Given the description of an element on the screen output the (x, y) to click on. 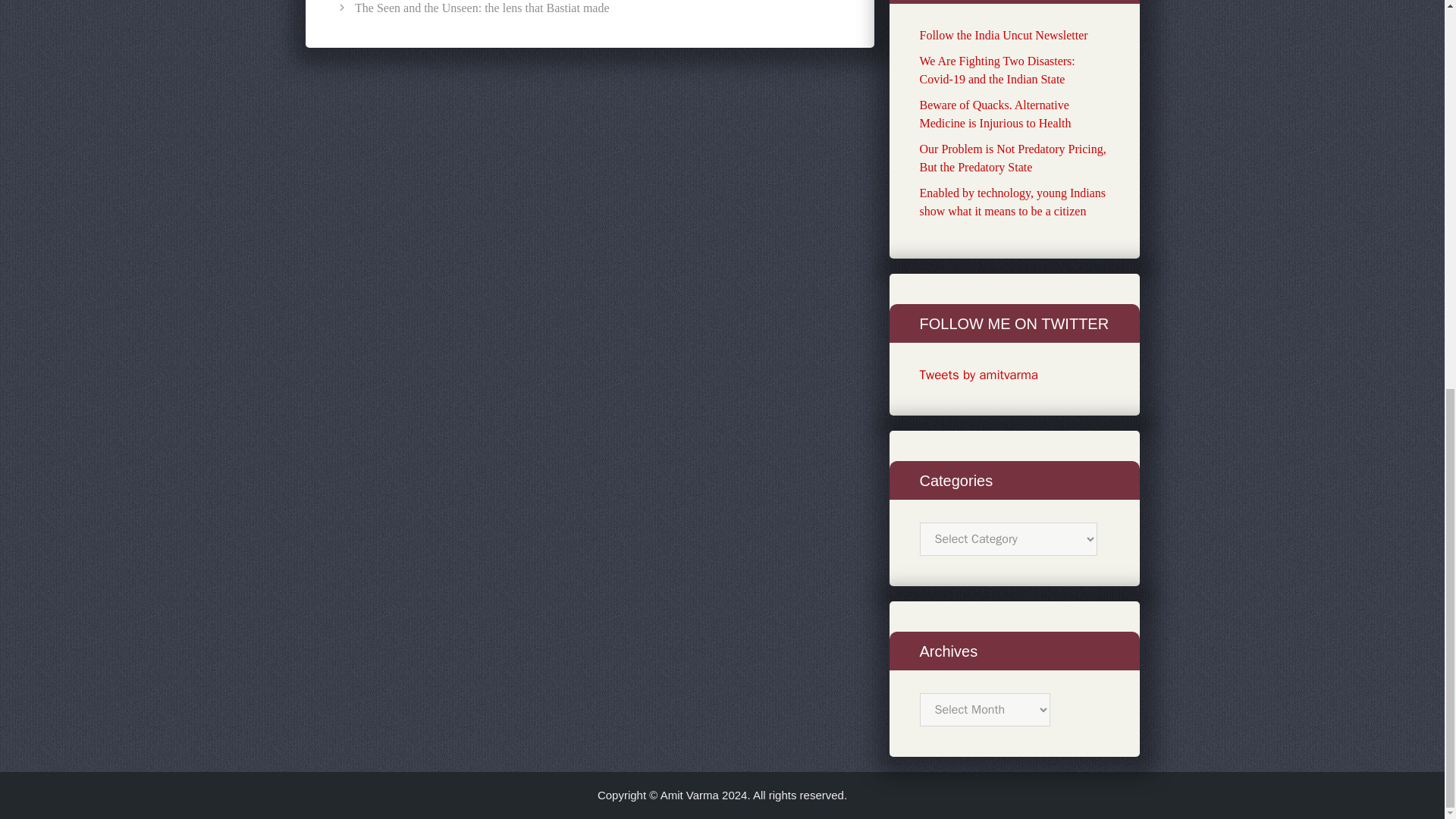
Scroll back to top (1406, 798)
We Are Fighting Two Disasters: Covid-19 and the Indian State (996, 69)
The Seen and the Unseen: the lens that Bastiat made (481, 7)
Tweets by amitvarma (978, 374)
Follow the India Uncut Newsletter (1002, 34)
